Given the description of an element on the screen output the (x, y) to click on. 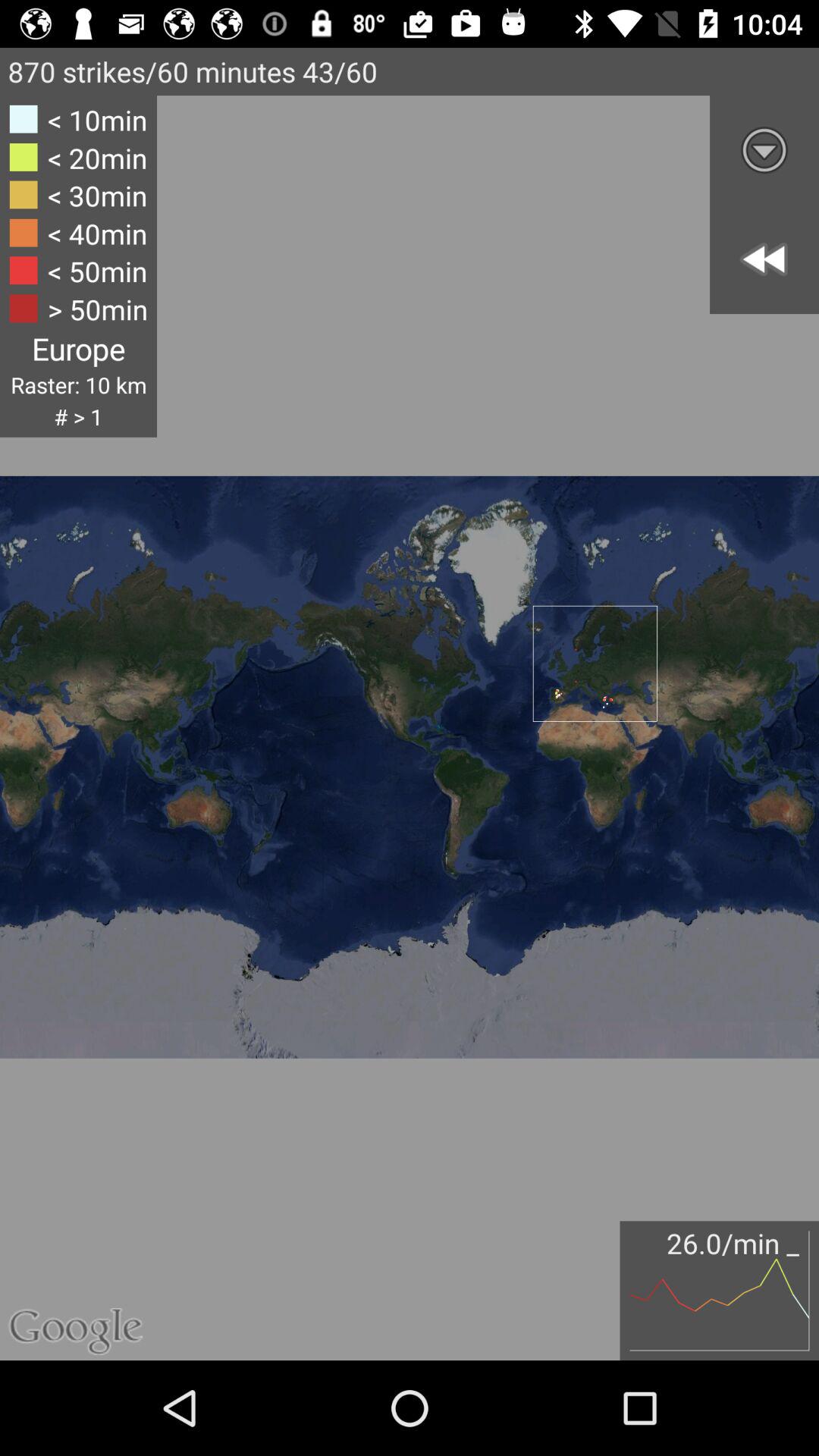
choose the icon at the top left corner (78, 266)
